Given the description of an element on the screen output the (x, y) to click on. 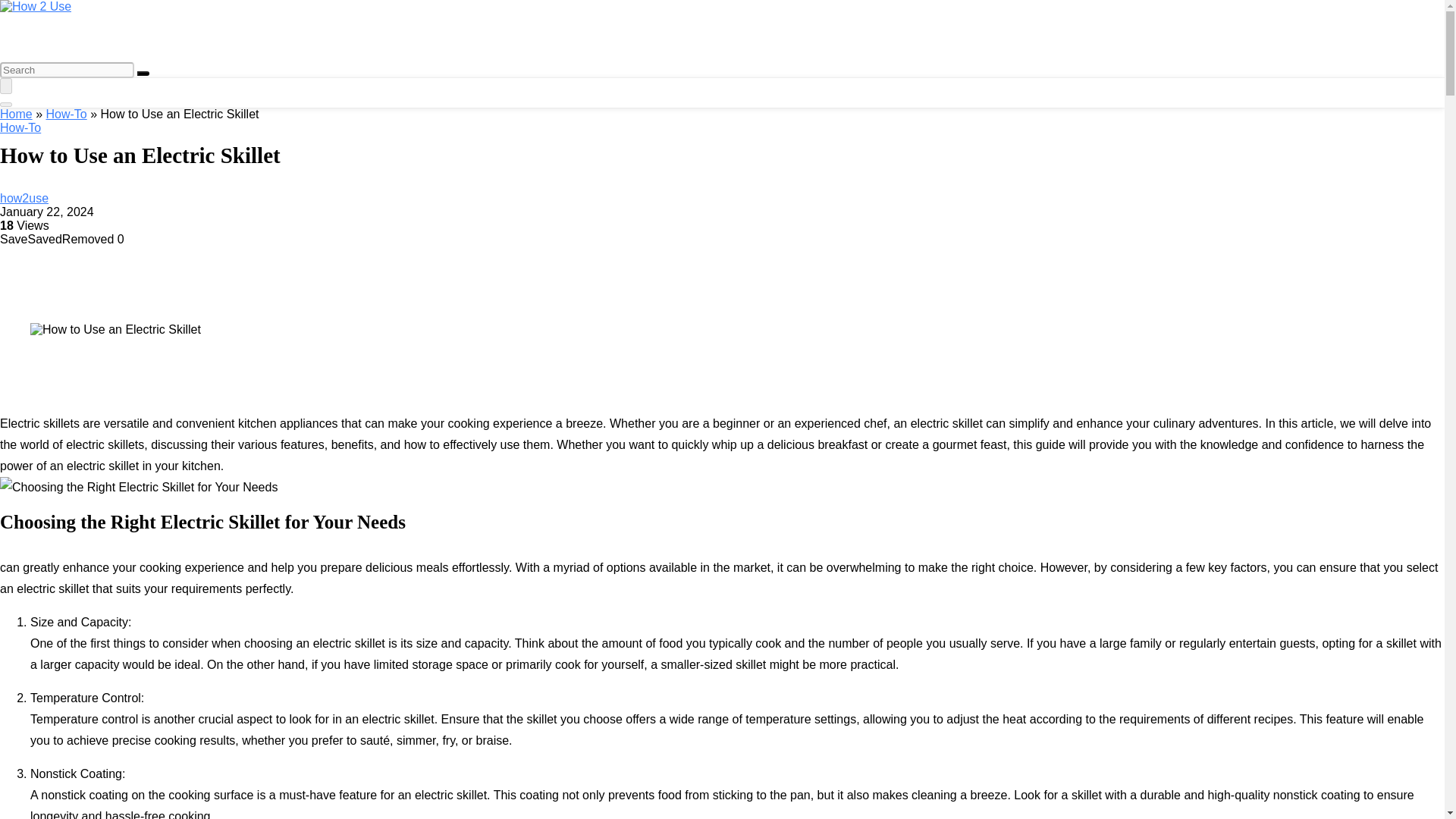
how2use (24, 197)
How-To (20, 127)
How-To (65, 113)
View all posts in How-To (20, 127)
Home (16, 113)
